Given the description of an element on the screen output the (x, y) to click on. 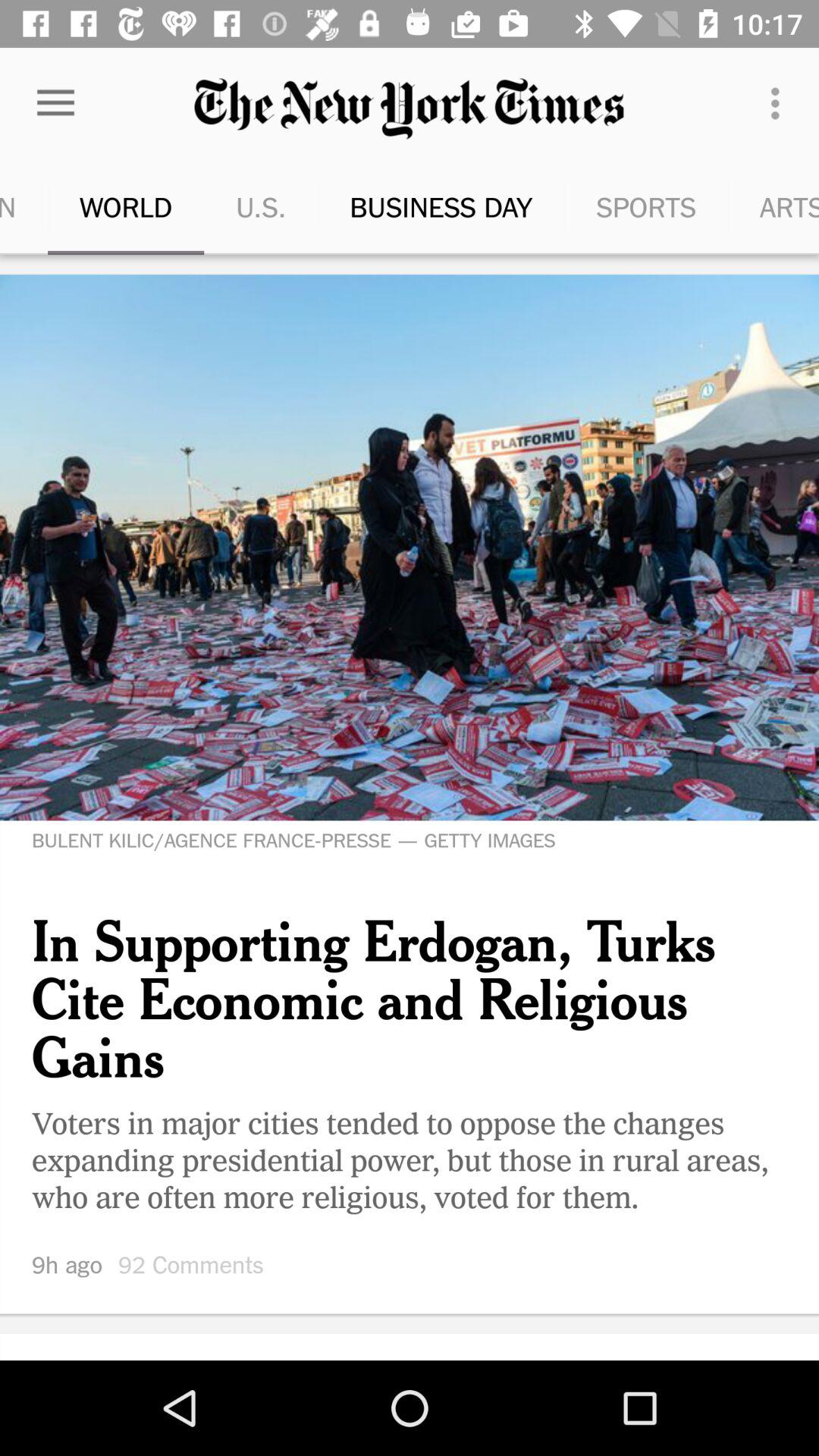
click icon to the left of new york (753, 206)
